Given the description of an element on the screen output the (x, y) to click on. 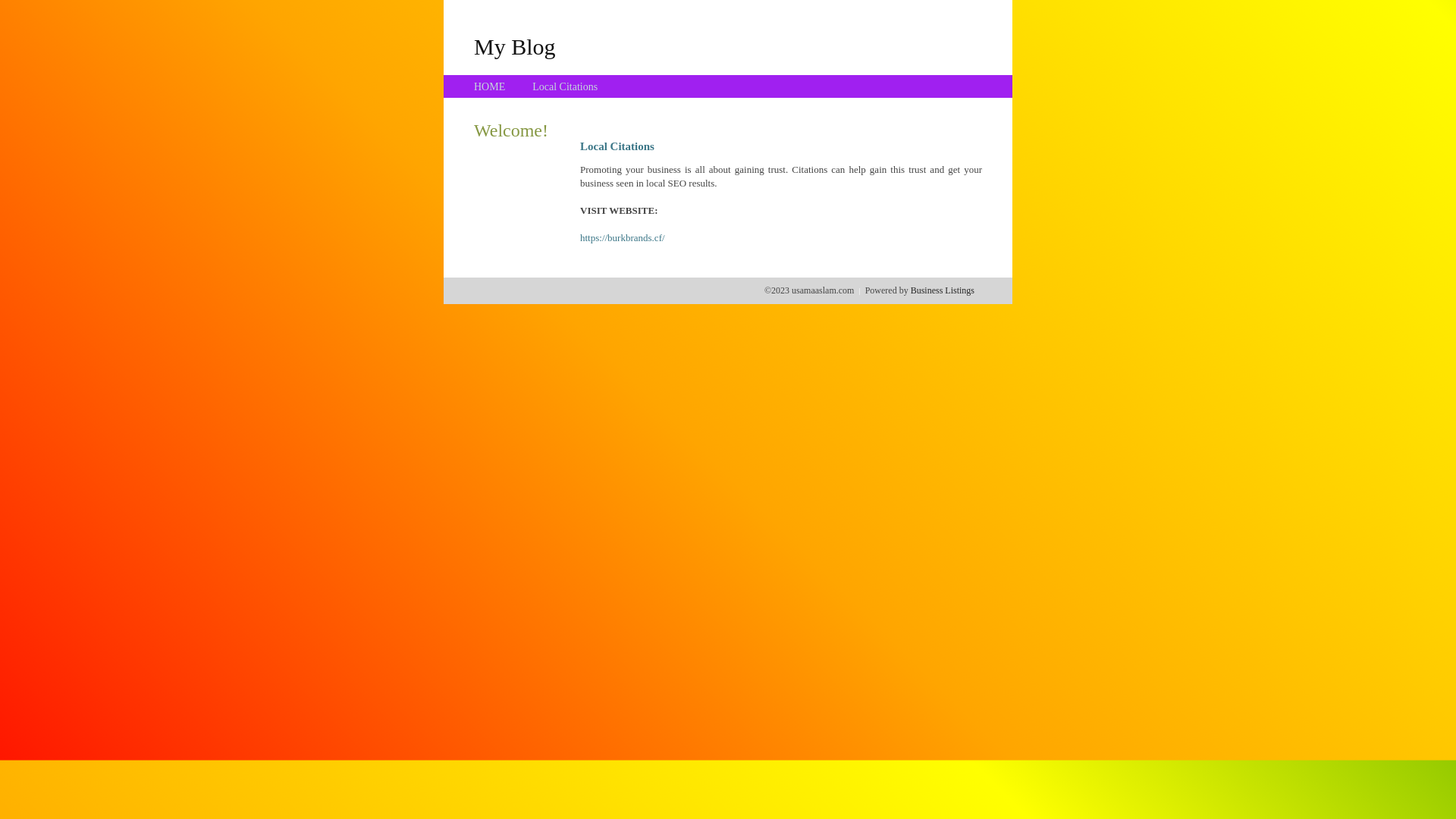
https://burkbrands.cf/ Element type: text (622, 237)
Business Listings Element type: text (942, 290)
HOME Element type: text (489, 86)
My Blog Element type: text (514, 46)
Local Citations Element type: text (564, 86)
